Given the description of an element on the screen output the (x, y) to click on. 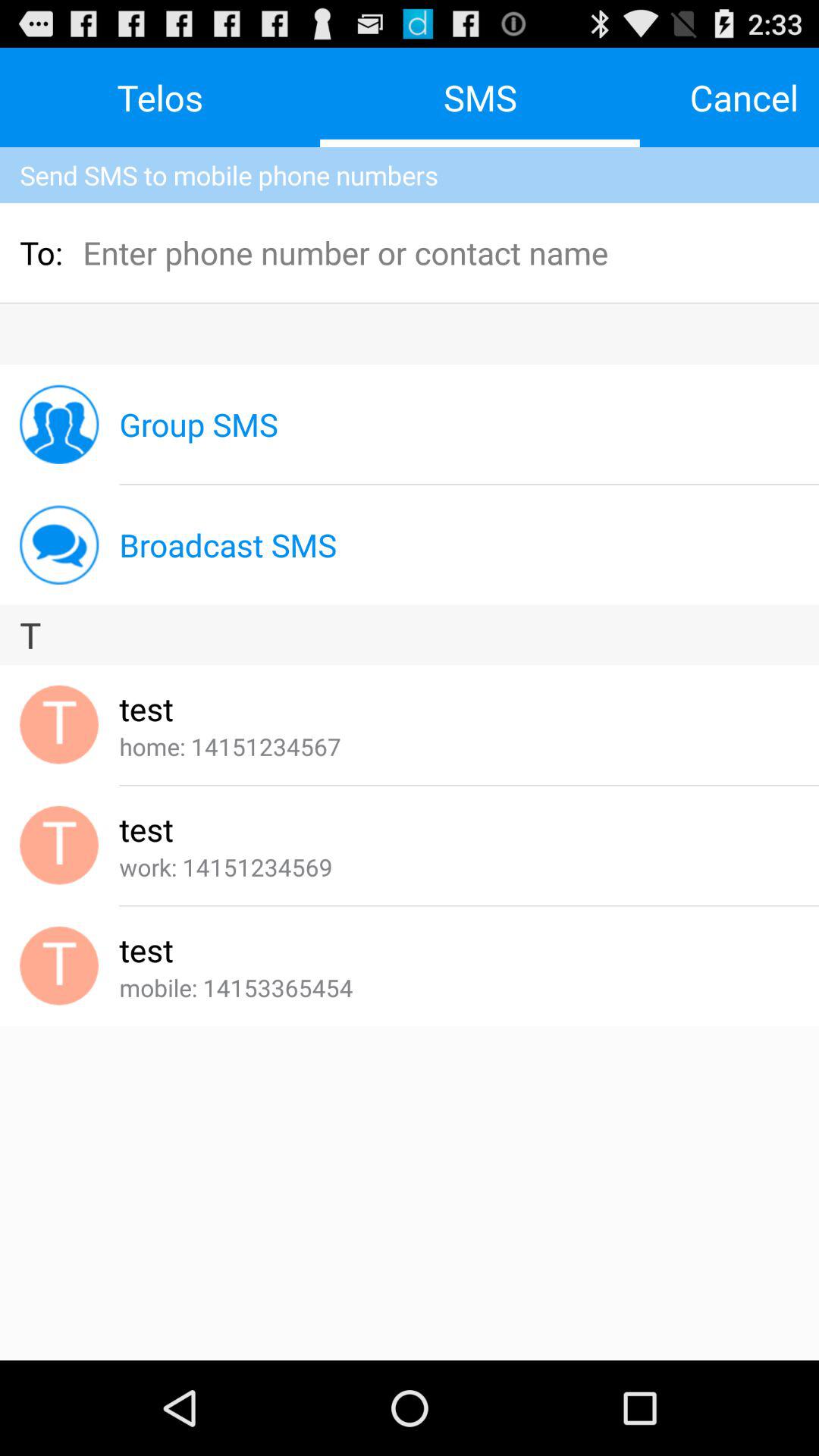
click the cancel item (743, 97)
